Given the description of an element on the screen output the (x, y) to click on. 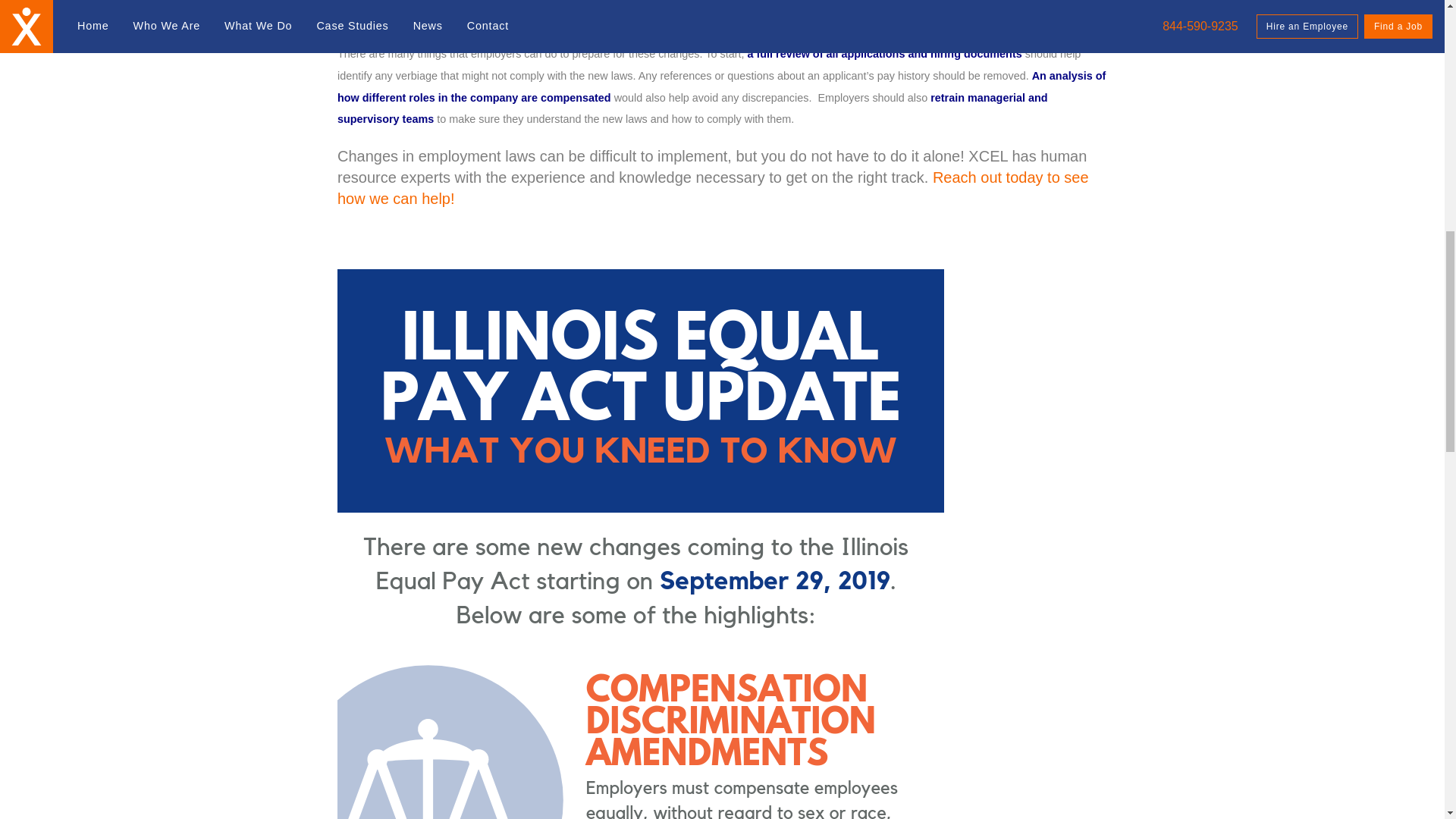
Reach out today to see how we can help! (713, 187)
